Given the description of an element on the screen output the (x, y) to click on. 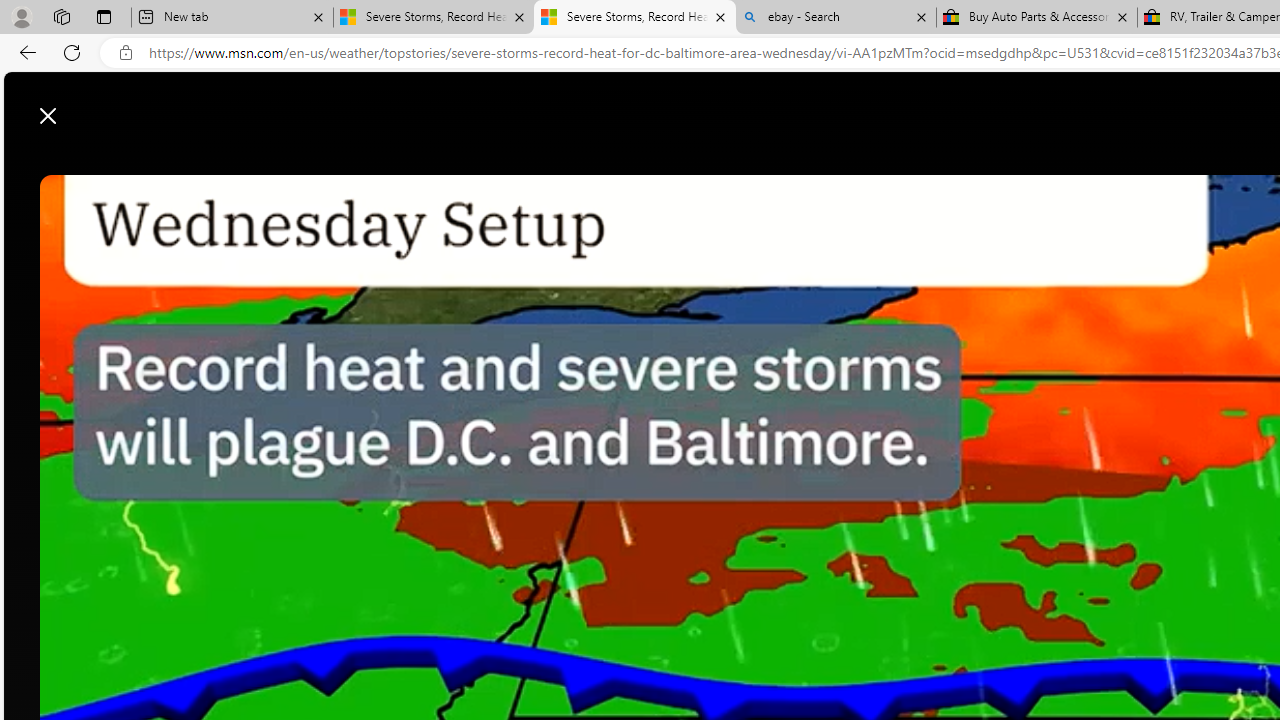
Discover (568, 162)
Skip to footer (82, 105)
Watch (742, 162)
Following (656, 162)
Open navigation menu (513, 162)
Severe Storms, Record Heat For DC, Baltimore Area Wednesday (634, 17)
Web search (924, 105)
Class: control icon-only (47, 115)
Class: button-glyph (513, 162)
Buy Auto Parts & Accessories | eBay (1036, 17)
Discover (575, 162)
